Given the description of an element on the screen output the (x, y) to click on. 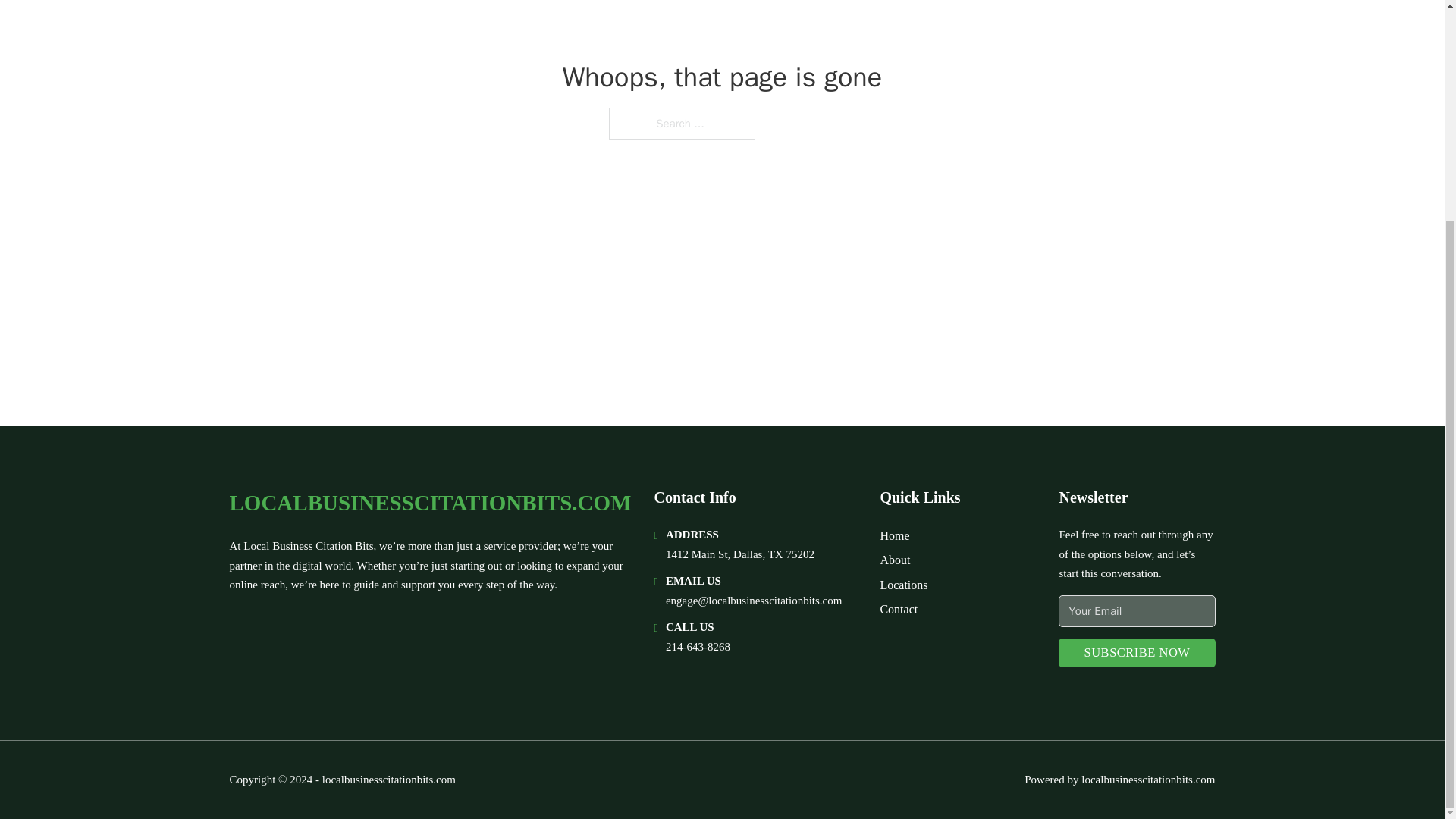
About (894, 559)
Locations (903, 584)
LOCALBUSINESSCITATIONBITS.COM (429, 502)
214-643-8268 (697, 646)
SUBSCRIBE NOW (1136, 653)
Home (893, 535)
Contact (898, 608)
